Given the description of an element on the screen output the (x, y) to click on. 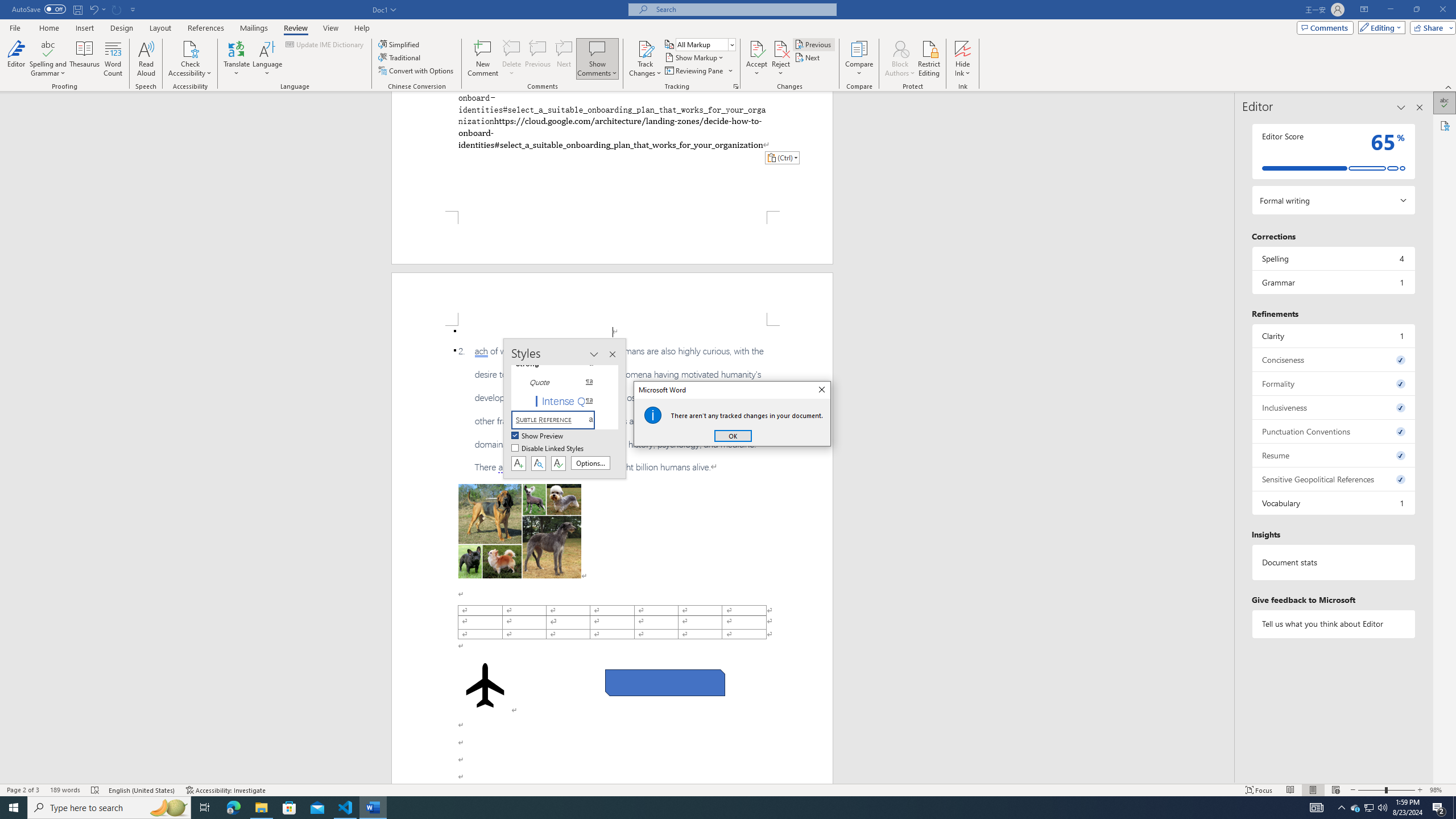
Reviewing Pane (698, 69)
Reject (780, 58)
Vocabulary, 1 issue. Press space or enter to review items. (1333, 502)
Check Accessibility (189, 48)
Track Changes (644, 58)
Previous (813, 44)
Simplified (400, 44)
Class: NetUIScrollBar (1229, 437)
Class: MsoCommandBar (728, 789)
Word - 1 running window (373, 807)
